Given the description of an element on the screen output the (x, y) to click on. 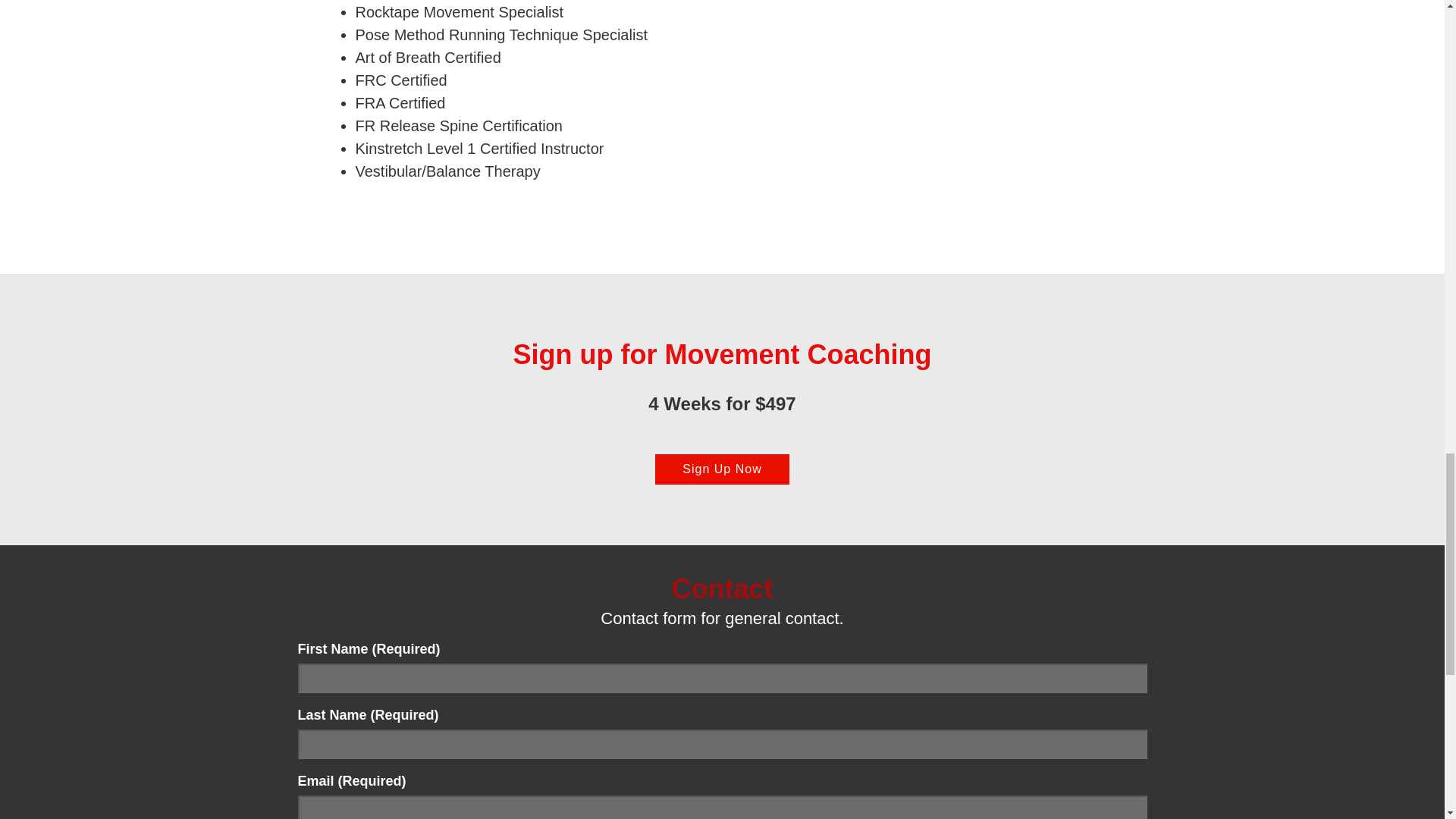
Sign Up Now (722, 469)
